Given the description of an element on the screen output the (x, y) to click on. 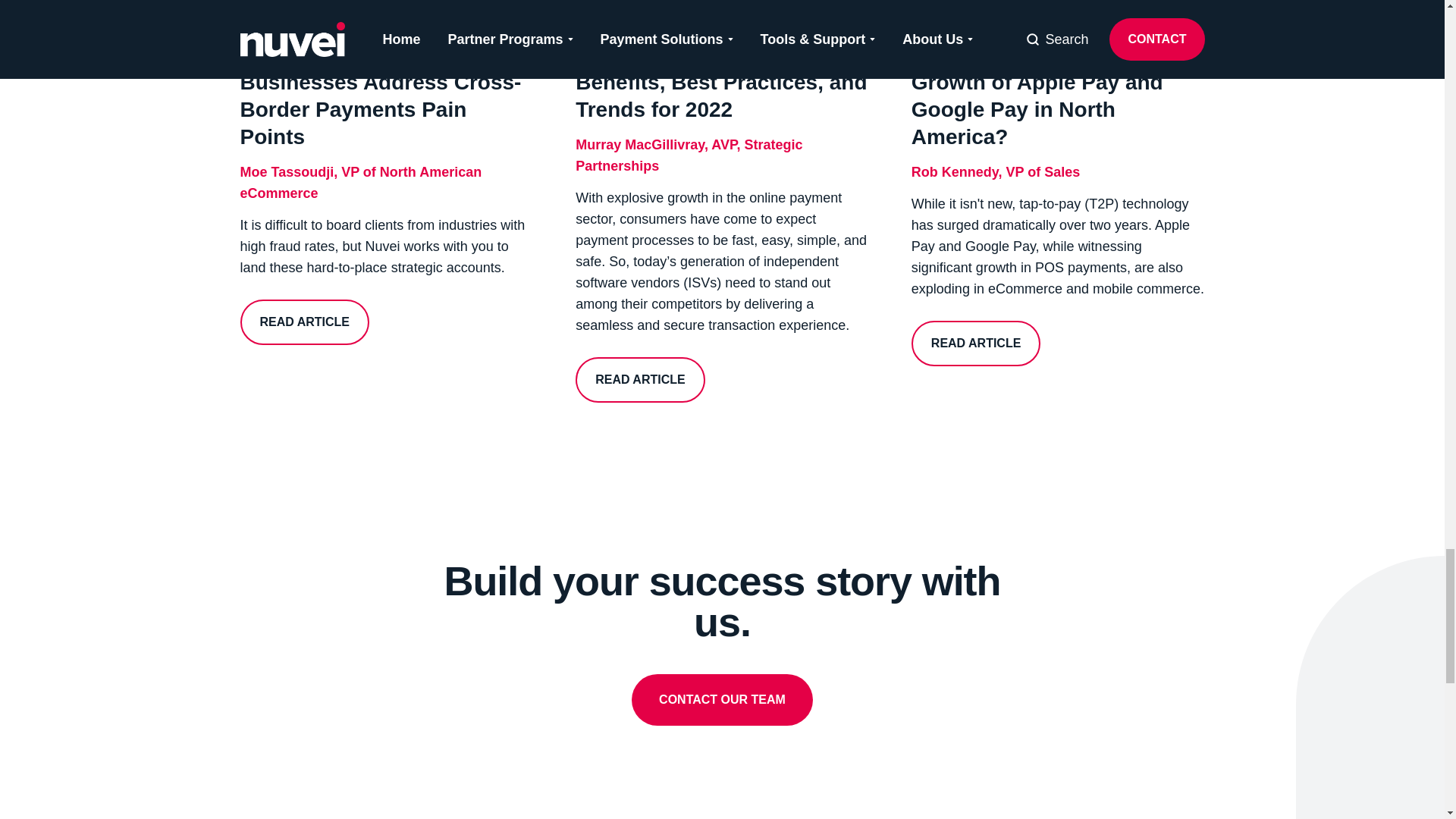
PAYMENT TECHNOLOGY (326, 12)
Moe Tassoudji, VP of North American eCommerce (386, 187)
